Given the description of an element on the screen output the (x, y) to click on. 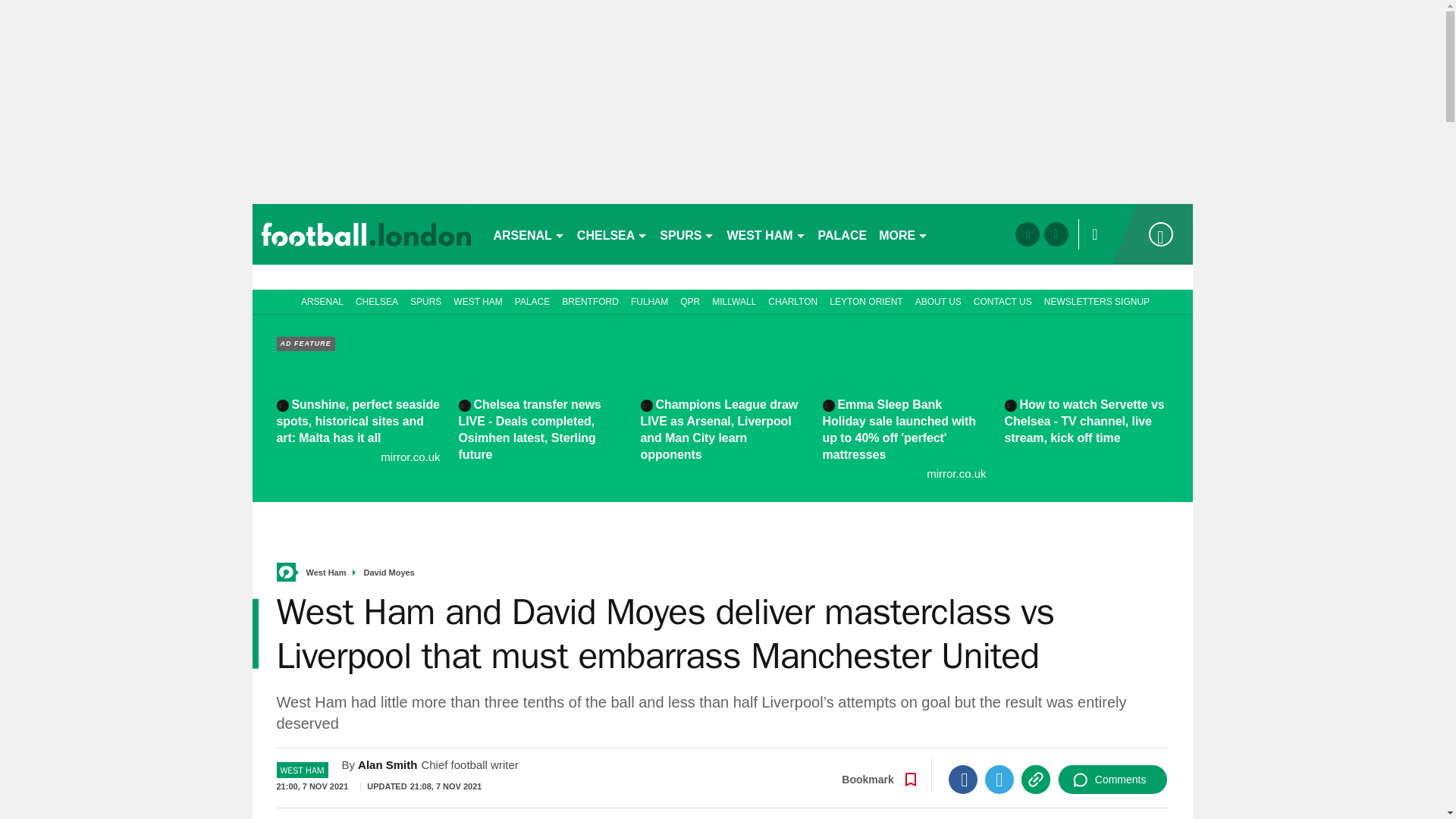
Twitter (999, 778)
ARSENAL (528, 233)
PALACE (842, 233)
twitter (1055, 233)
facebook (1026, 233)
CHELSEA (611, 233)
MORE (903, 233)
footballlondon (365, 233)
Facebook (962, 778)
SPURS (686, 233)
